Given the description of an element on the screen output the (x, y) to click on. 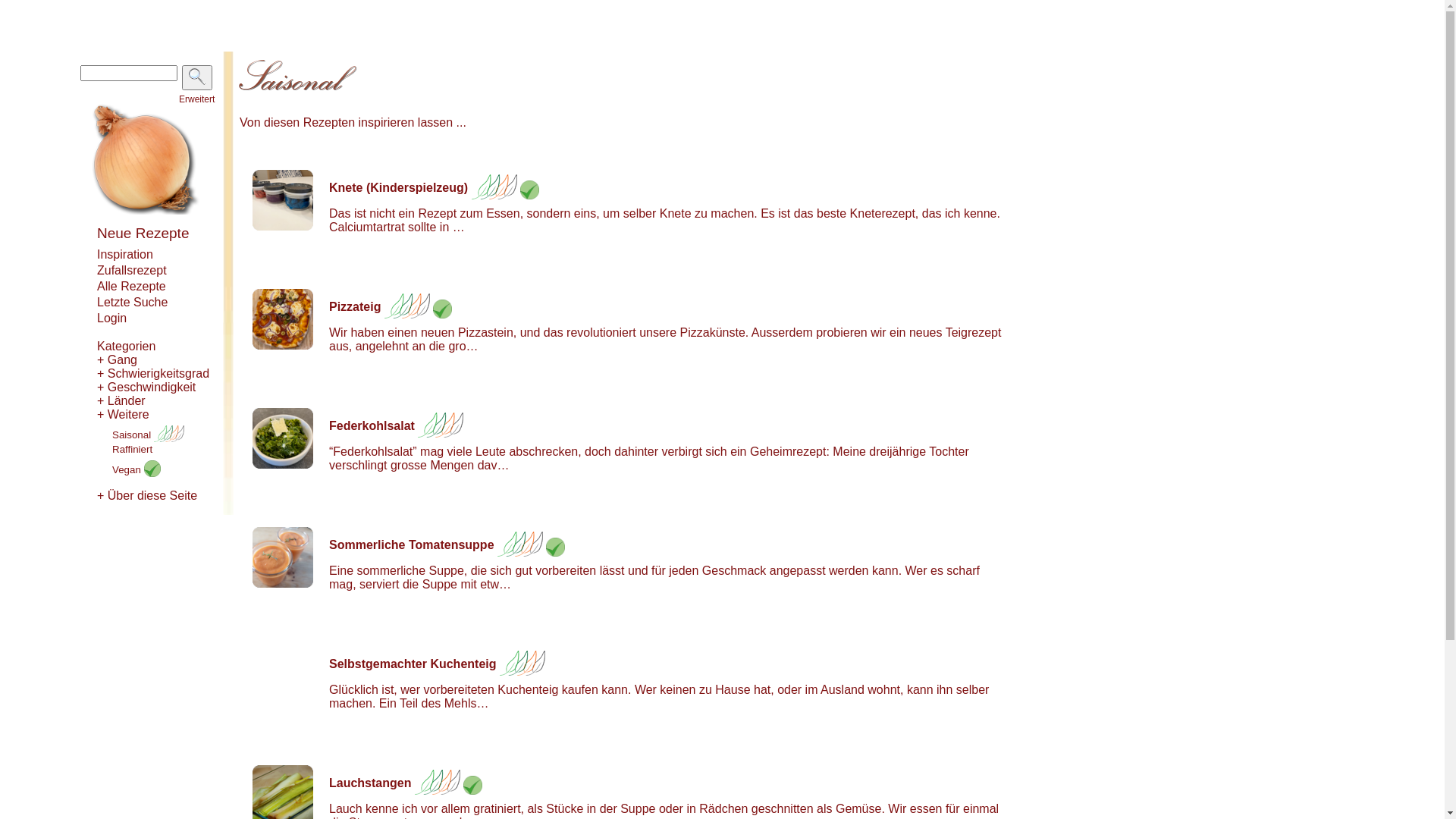
Federkohlsalat Element type: text (371, 425)
Startseite Element type: hover (144, 209)
+ Weitere Element type: text (123, 413)
Erweitert Element type: text (196, 99)
Sommerliche Tomatensuppe Element type: text (411, 544)
Raffiniert Element type: text (132, 449)
Von diesen Rezepten inspirieren lassen ... Element type: text (352, 122)
Inspiration Element type: text (125, 253)
Saisonal Element type: text (148, 434)
Dieses Rezept hat derzeit Saison. Element type: hover (437, 782)
Dieses Rezept hat derzeit Saison. Element type: hover (494, 187)
+ Geschwindigkeit Element type: text (146, 386)
Knete (Kinderspielzeug) Element type: text (398, 187)
Kategorien Element type: text (126, 345)
Dieses Rezept hat derzeit Saison. Element type: hover (522, 663)
Dieses Rezept hat derzeit Saison. Element type: hover (406, 306)
Letzte Suche Element type: text (132, 301)
Dieses Rezept hat derzeit Saison. Element type: hover (519, 544)
Alle Rezepte Element type: text (131, 285)
Selbstgemachter Kuchenteig Element type: text (412, 663)
Dieses Rezept hat derzeit Saison. Element type: hover (440, 425)
Pizzateig Element type: text (354, 306)
Neue Rezepte Element type: text (142, 233)
Vegan Element type: text (136, 469)
Lauchstangen Element type: text (370, 782)
+ Schwierigkeitsgrad Element type: text (153, 373)
Zufallsrezept Element type: text (131, 269)
+ Gang Element type: text (117, 359)
Login Element type: text (111, 317)
